Given the description of an element on the screen output the (x, y) to click on. 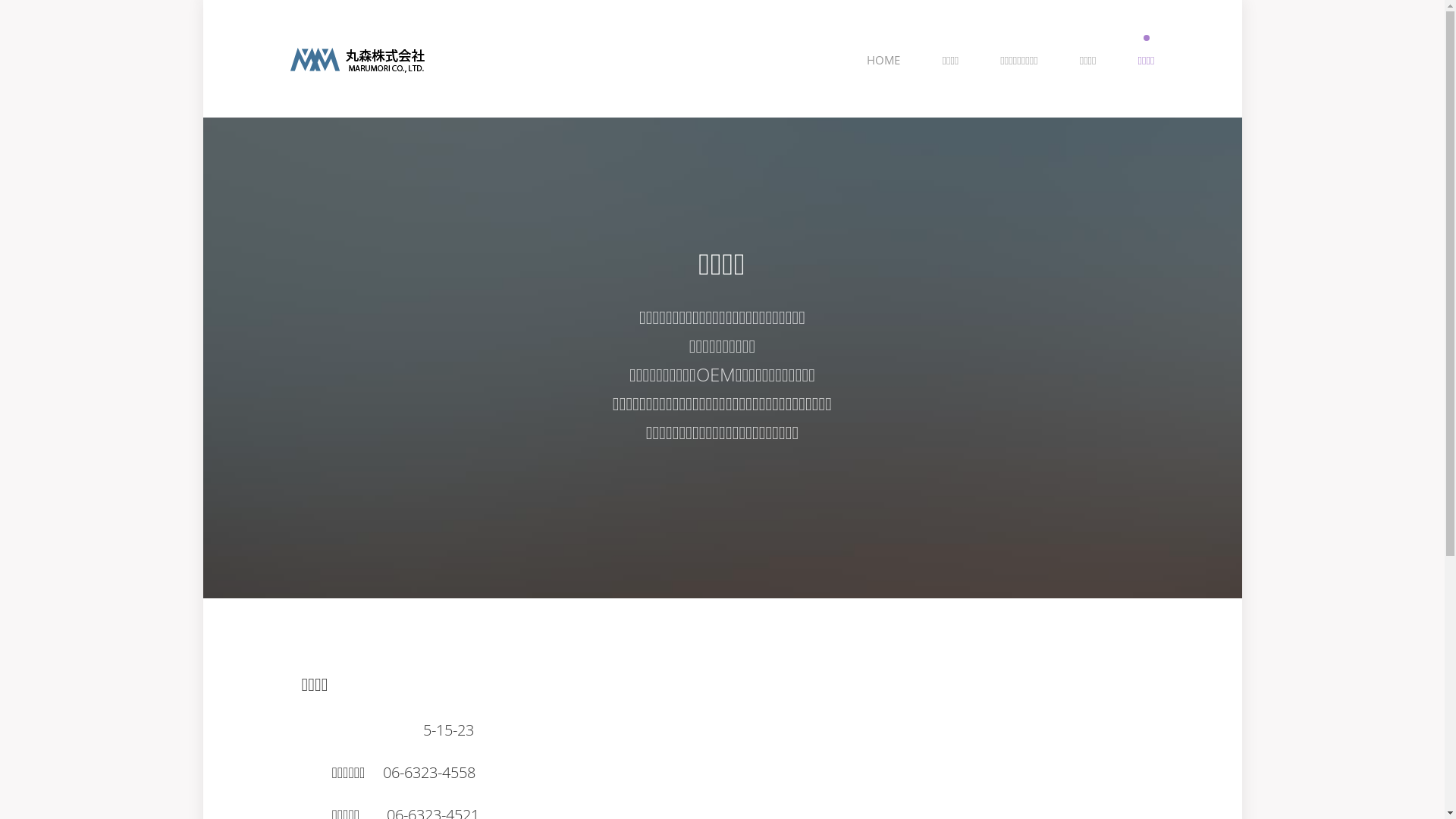
HOME Element type: text (883, 60)
